Given the description of an element on the screen output the (x, y) to click on. 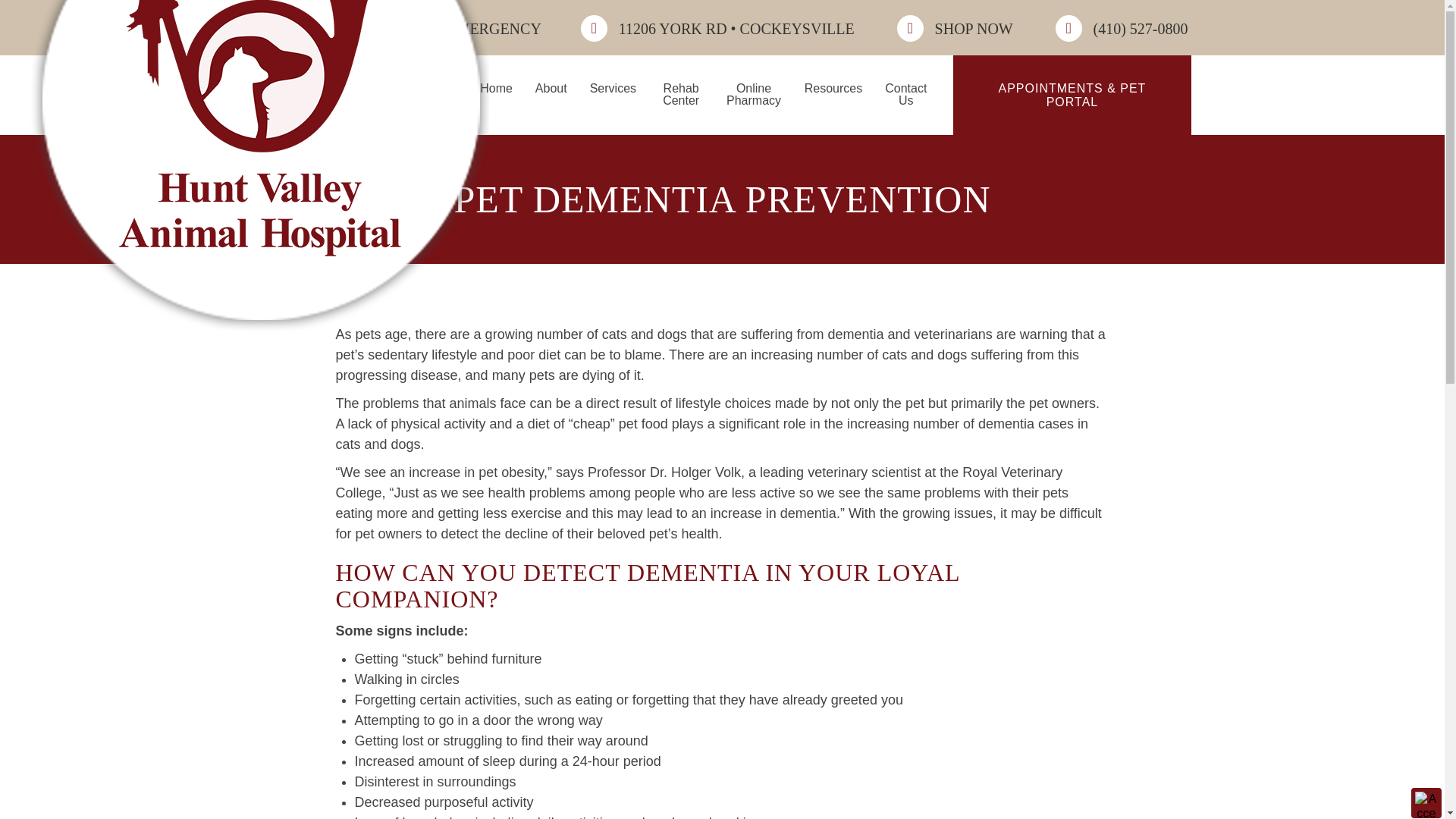
Accessibility Helper sidebar (1425, 802)
